Given the description of an element on the screen output the (x, y) to click on. 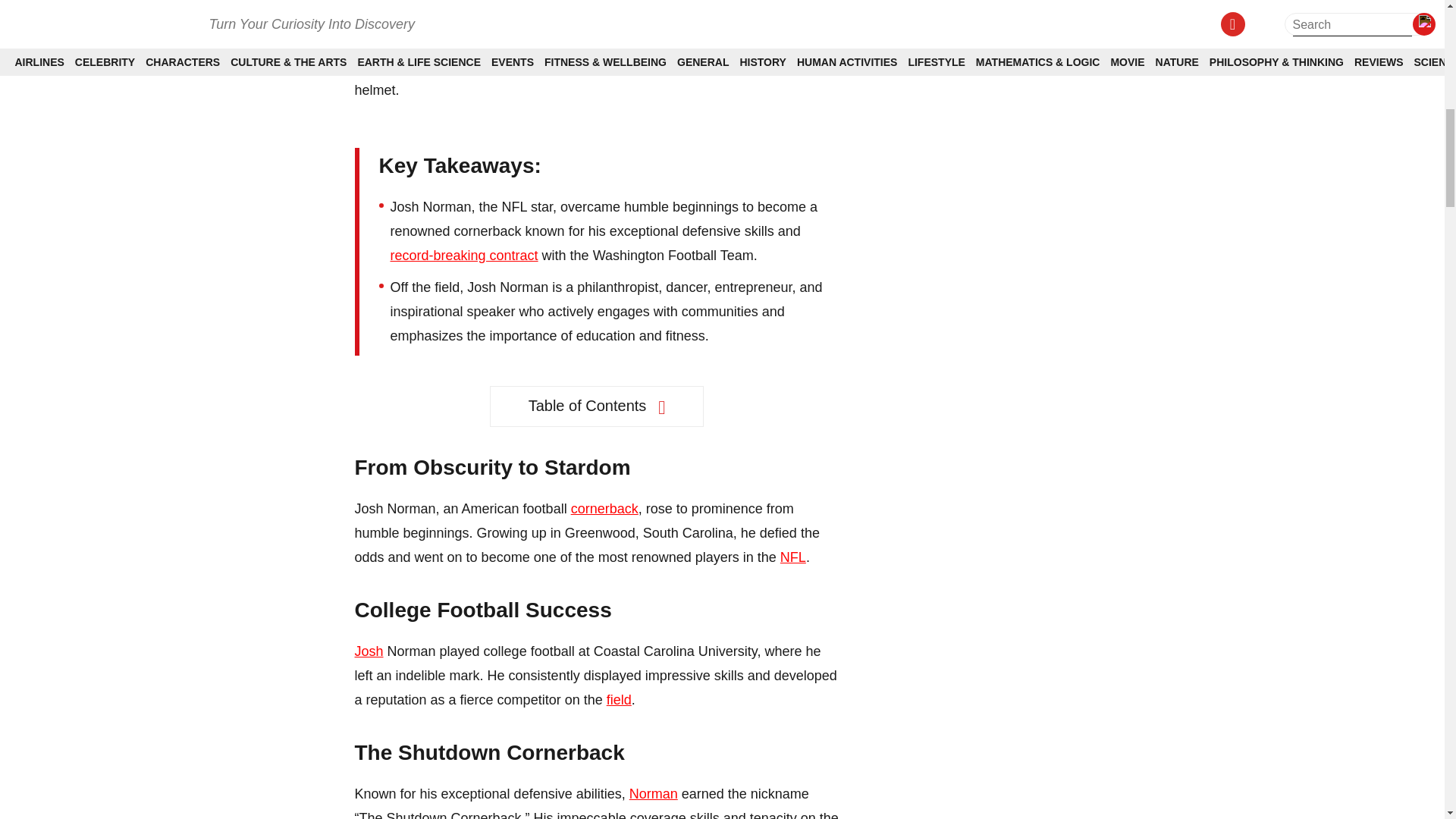
fascinating (415, 41)
record-breaking contract (463, 255)
Norman (607, 0)
cornerback (604, 508)
field (619, 699)
Norman (653, 793)
NFL (793, 557)
facts (454, 65)
Josh (369, 651)
